Given the description of an element on the screen output the (x, y) to click on. 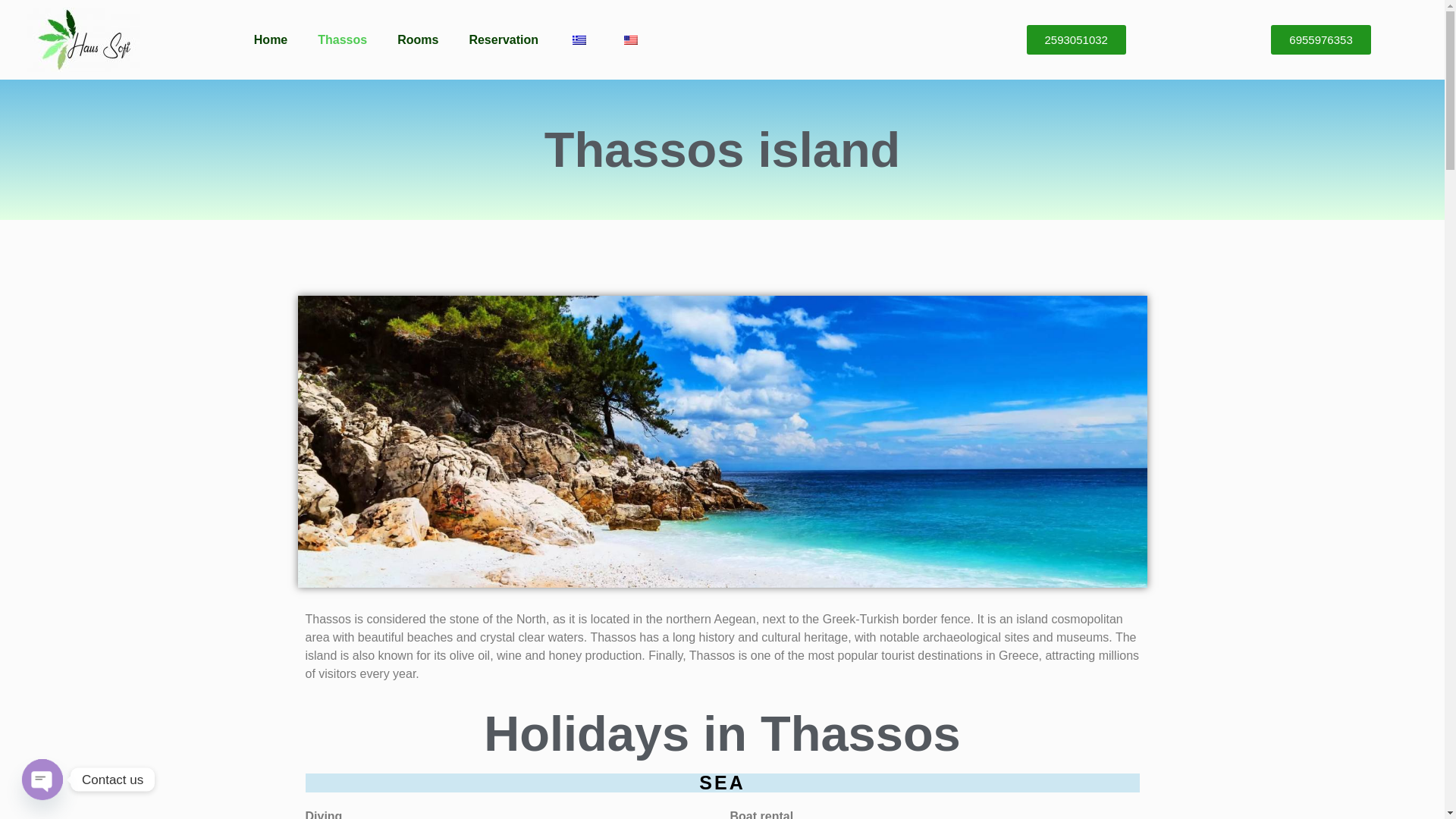
6955976353 (1320, 39)
Thassos (341, 39)
Reservation (502, 39)
2593051032 (1075, 39)
Rooms (416, 39)
Home (270, 39)
EN (630, 39)
